Given the description of an element on the screen output the (x, y) to click on. 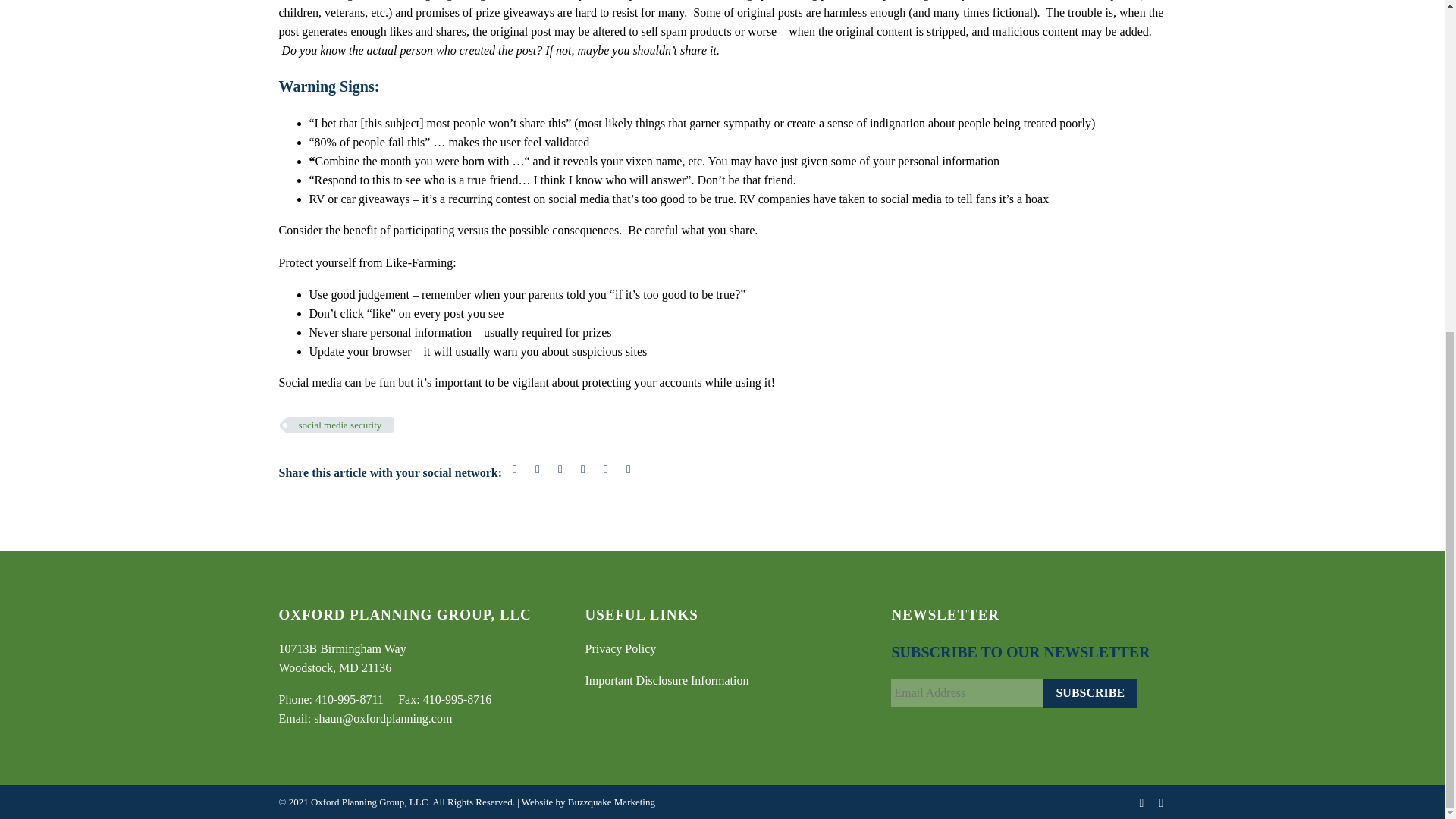
Facebook (514, 469)
LinkedIn (1161, 802)
Reddit (628, 469)
Tumblr (582, 469)
social media security (340, 424)
Twitter (537, 469)
Pinterest (560, 469)
Facebook (1141, 802)
LinkedIn (605, 469)
Subscribe (1089, 692)
